Given the description of an element on the screen output the (x, y) to click on. 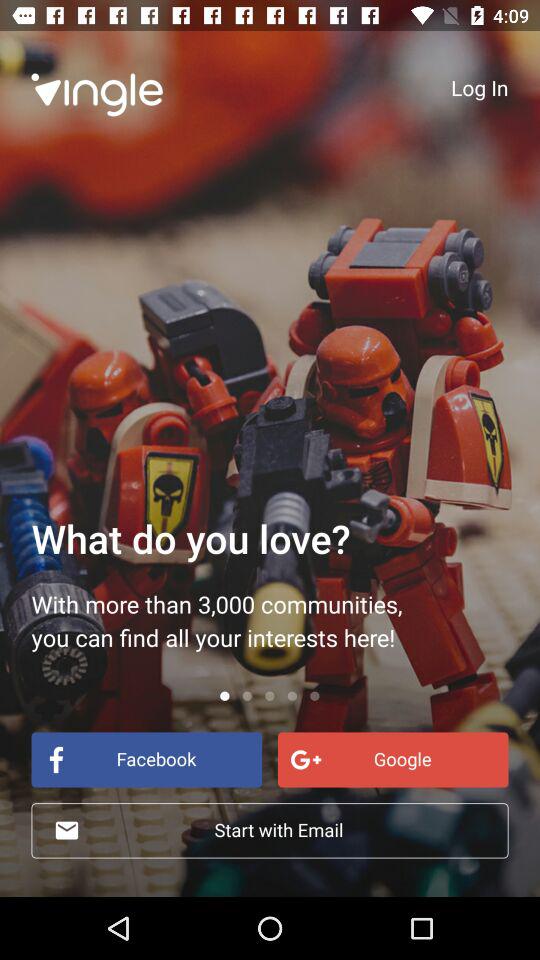
turn off the item above the google (479, 87)
